Given the description of an element on the screen output the (x, y) to click on. 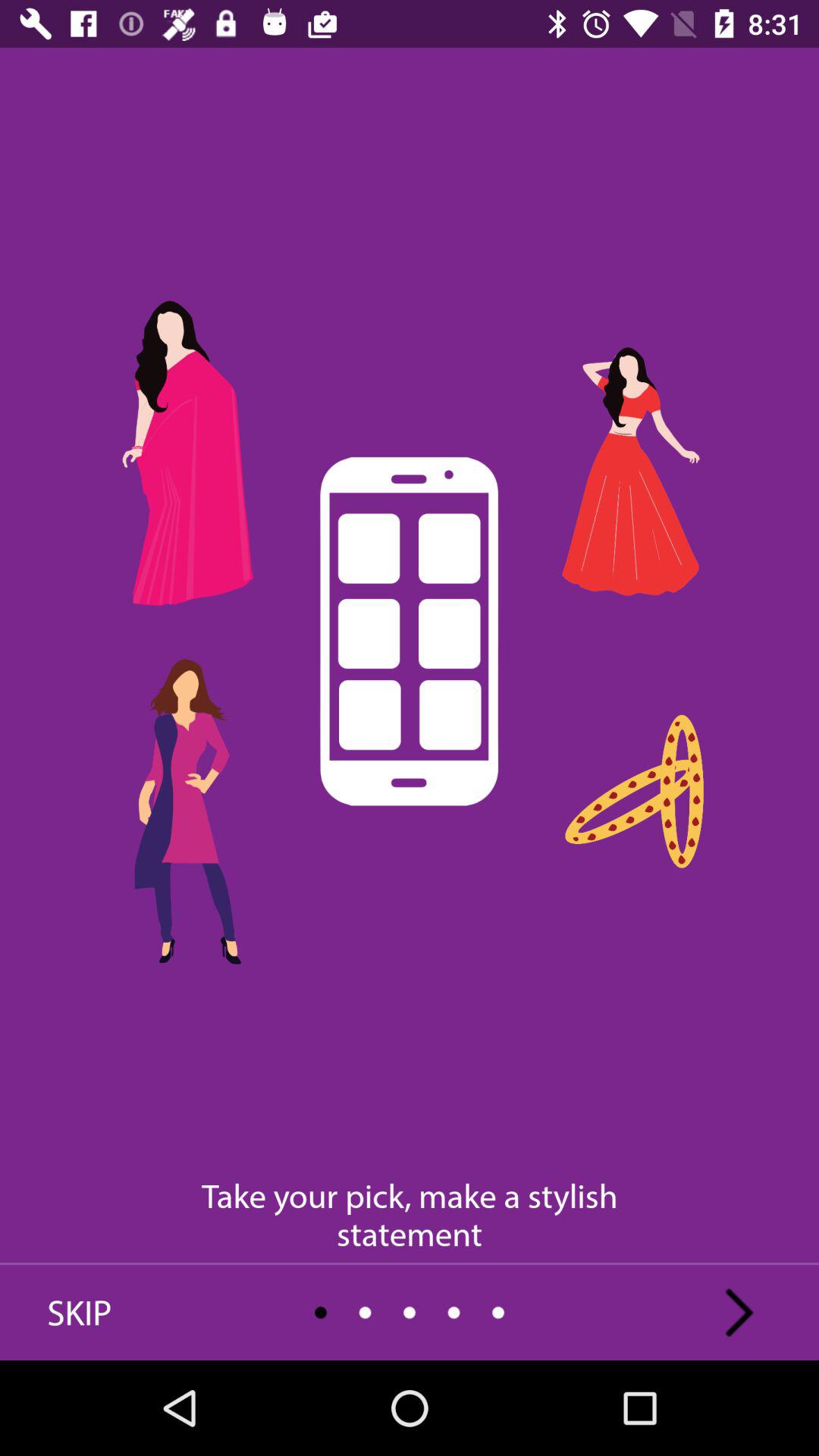
turn off the item to the right of the take your pick (739, 1312)
